Given the description of an element on the screen output the (x, y) to click on. 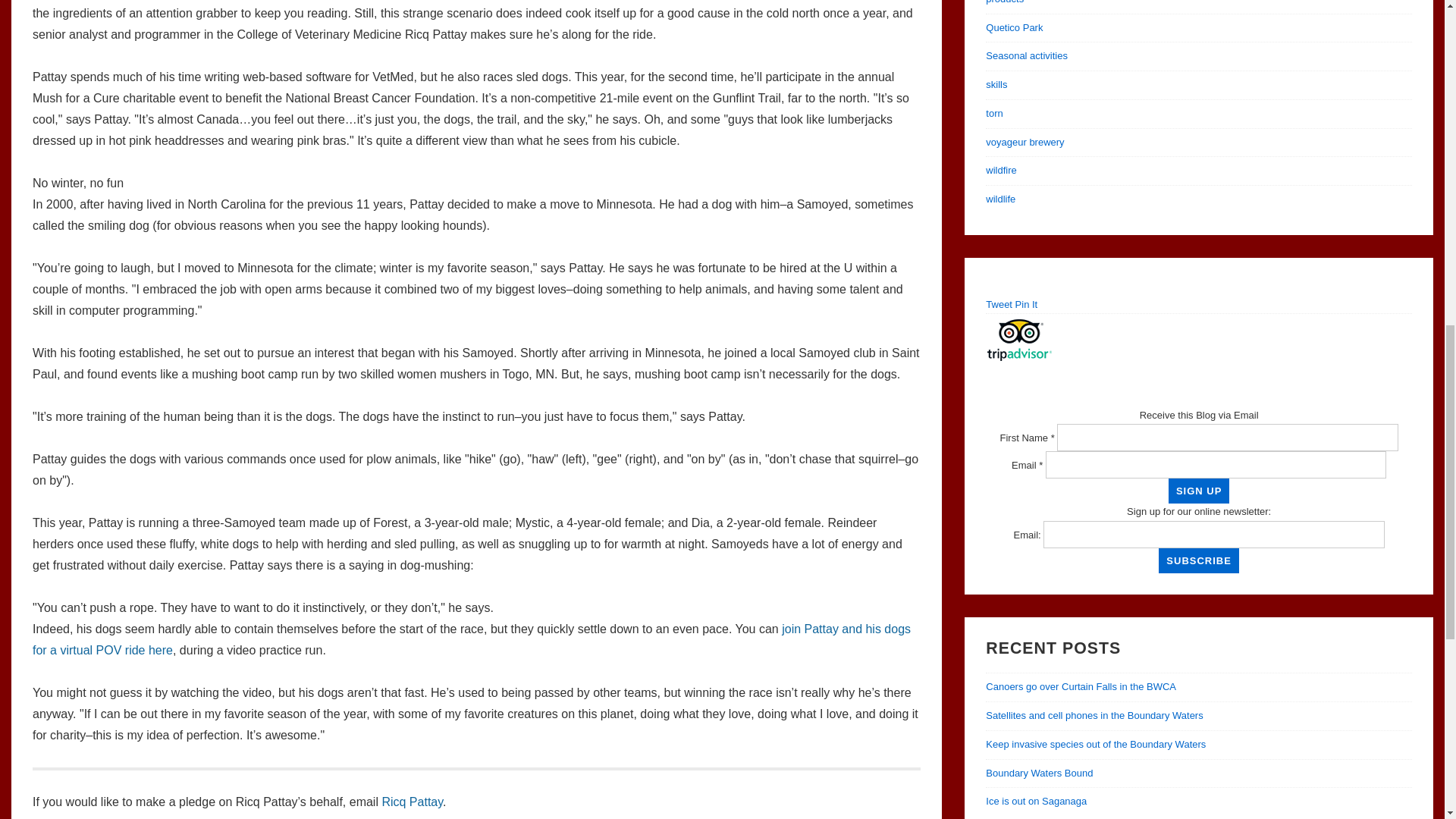
join Pattay and his dogs for a virtual POV ride here (471, 639)
torn (994, 112)
Pin It (1026, 304)
Tweet (998, 304)
Subscribe (1198, 560)
products (1004, 2)
wildlife (999, 198)
Sign Up (1198, 490)
Quetico Park (1013, 27)
Sign Up (1198, 490)
Subscribe (1198, 560)
Seasonal activities (1026, 55)
Ricq Pattay (411, 801)
skills (996, 84)
wildfire (1000, 170)
